Given the description of an element on the screen output the (x, y) to click on. 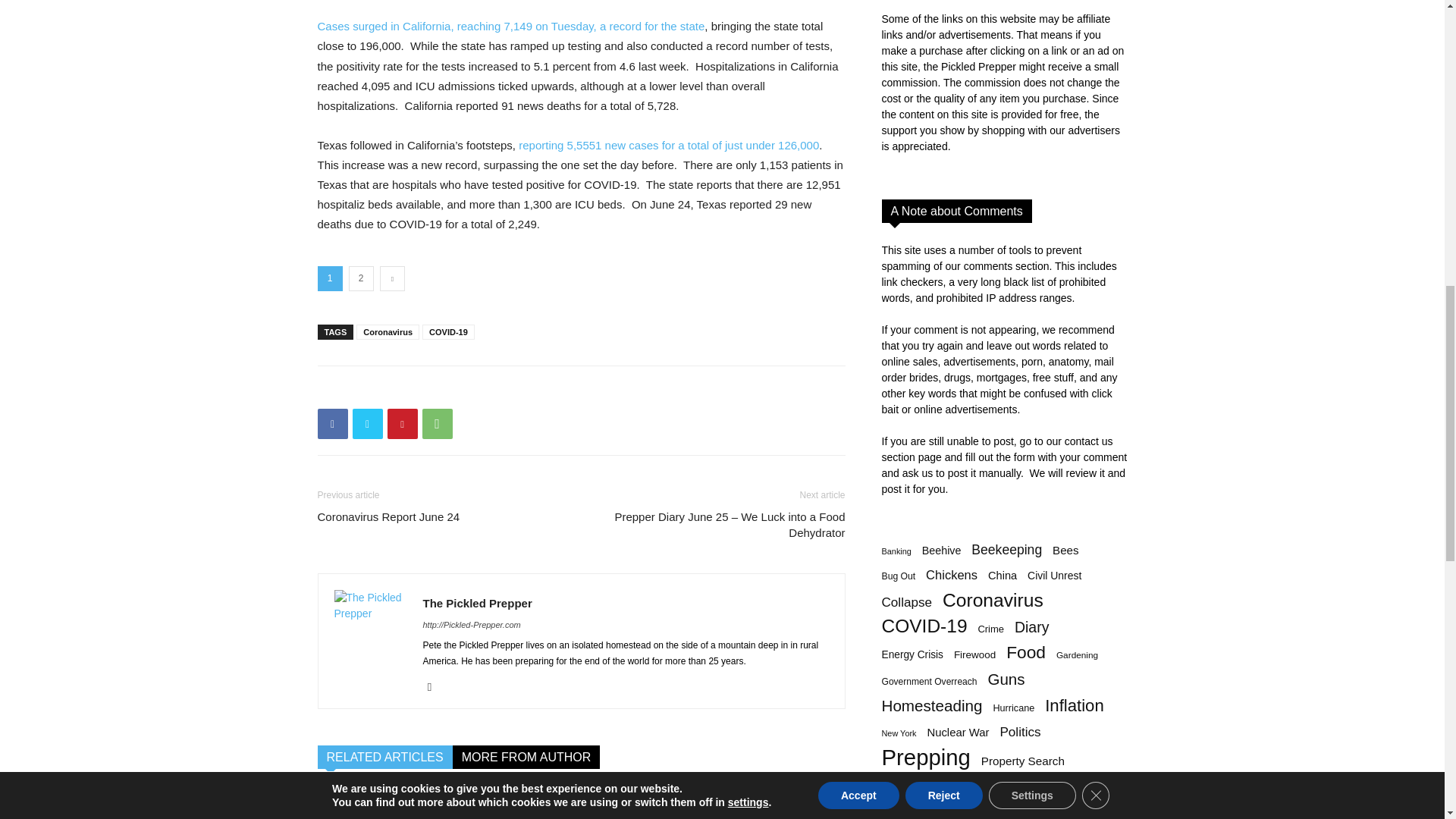
Facebook (332, 423)
WhatsApp (436, 423)
Twitter (366, 423)
Pinterest (401, 423)
bottomFacebookLike (430, 390)
